Given the description of an element on the screen output the (x, y) to click on. 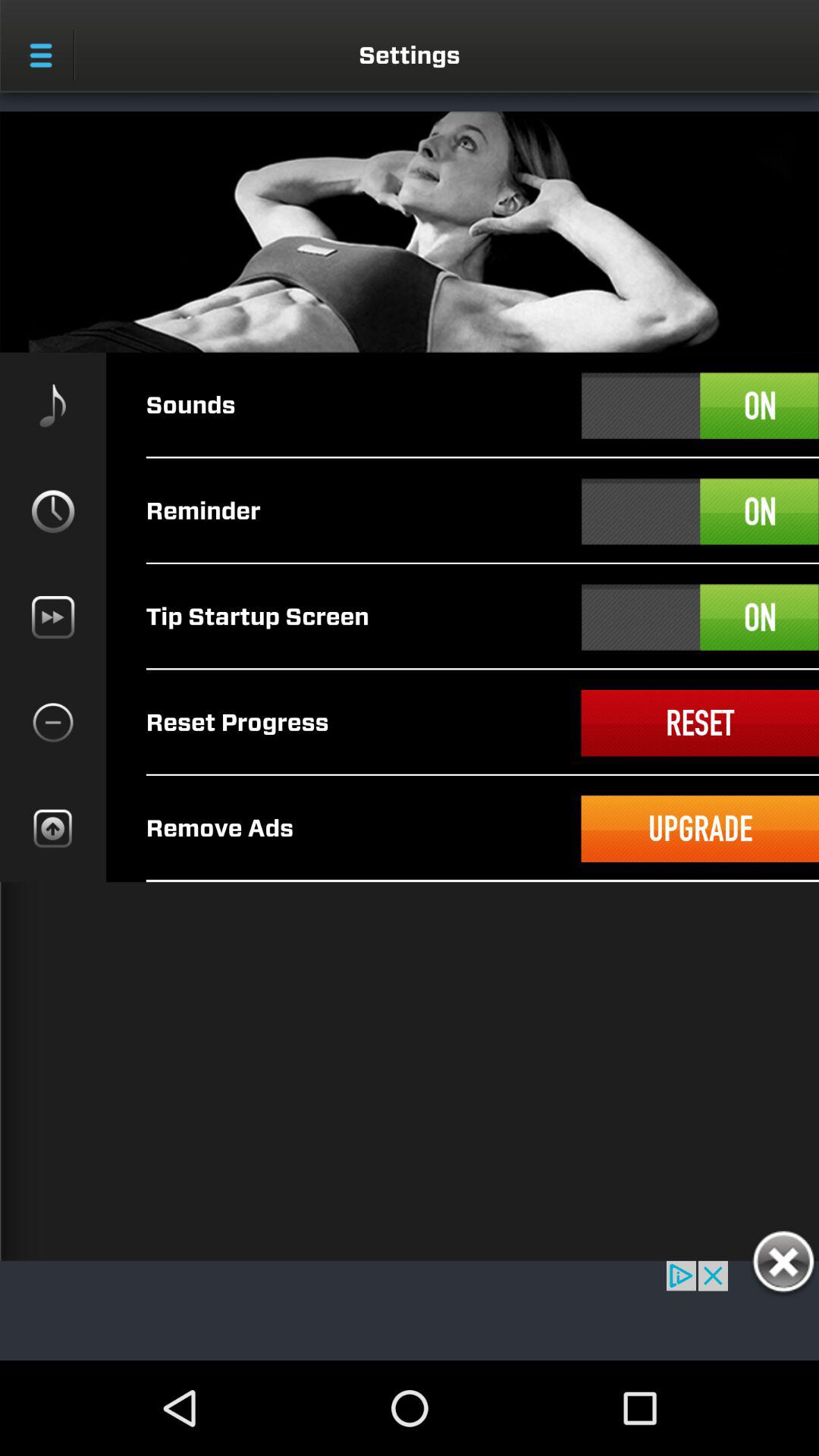
on (700, 511)
